Given the description of an element on the screen output the (x, y) to click on. 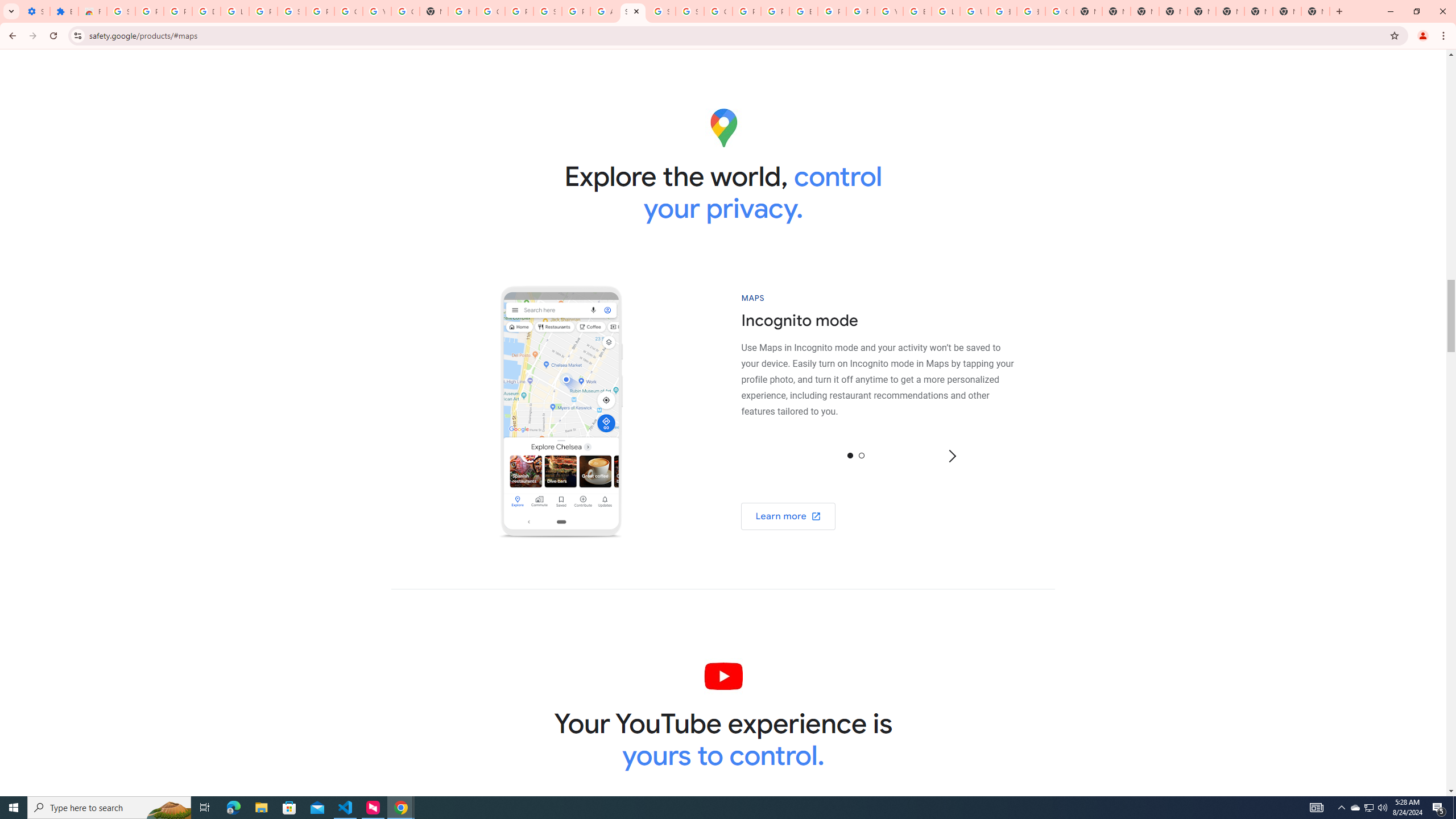
Sign in - Google Accounts (120, 11)
AutomationID: siop-description-maps-1 (884, 364)
The Google Maps logo (722, 127)
The YouTube logo (722, 675)
Reviews: Helix Fruit Jump Arcade Game (92, 11)
Sign in - Google Accounts (690, 11)
